Given the description of an element on the screen output the (x, y) to click on. 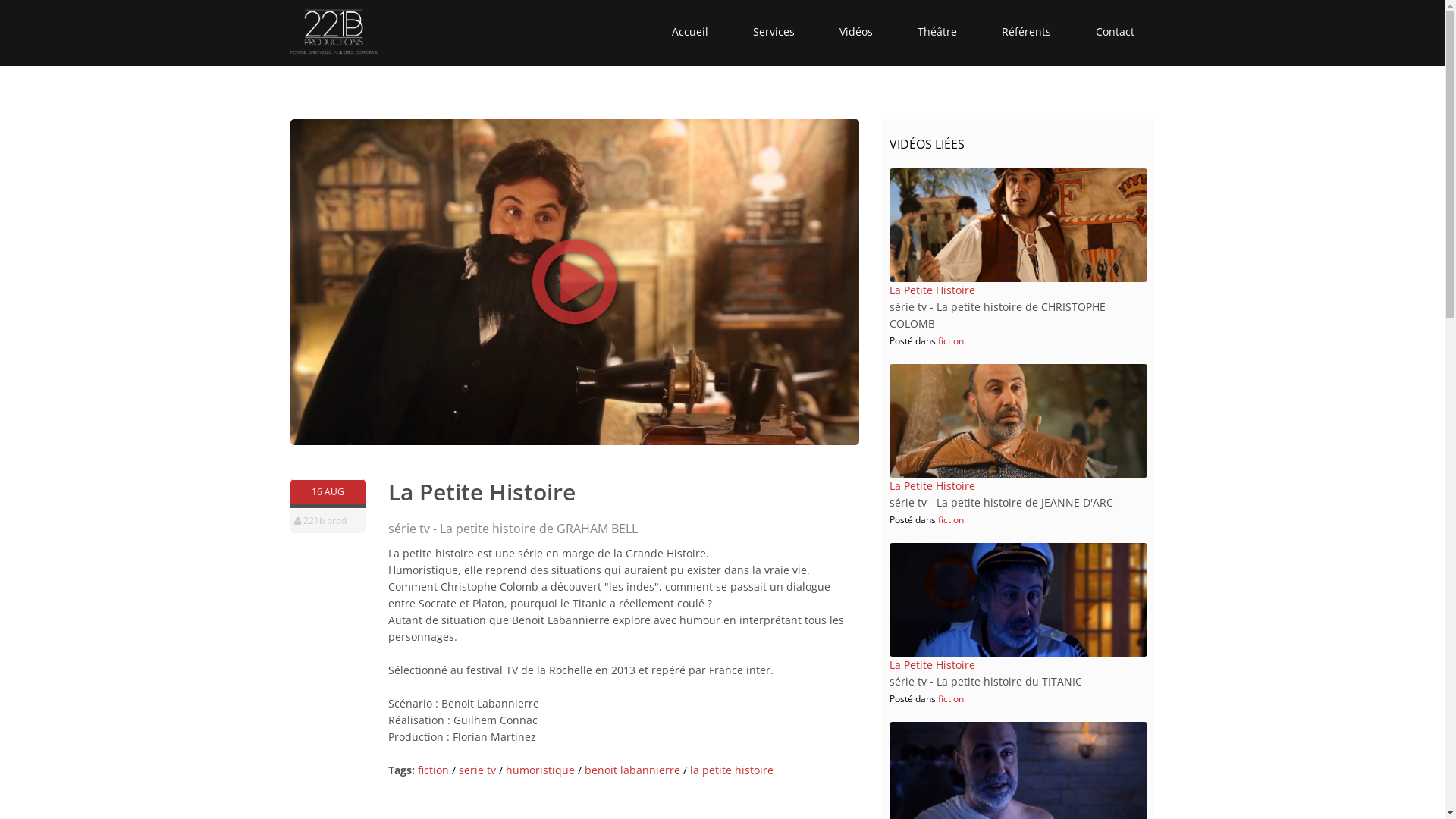
La Petite Histoire Element type: text (931, 664)
La Petite Histoire Element type: text (931, 289)
La Petite Histoire Element type: text (931, 485)
Services Element type: text (773, 31)
Contact Element type: text (1113, 31)
Accueil Element type: text (689, 31)
